Given the description of an element on the screen output the (x, y) to click on. 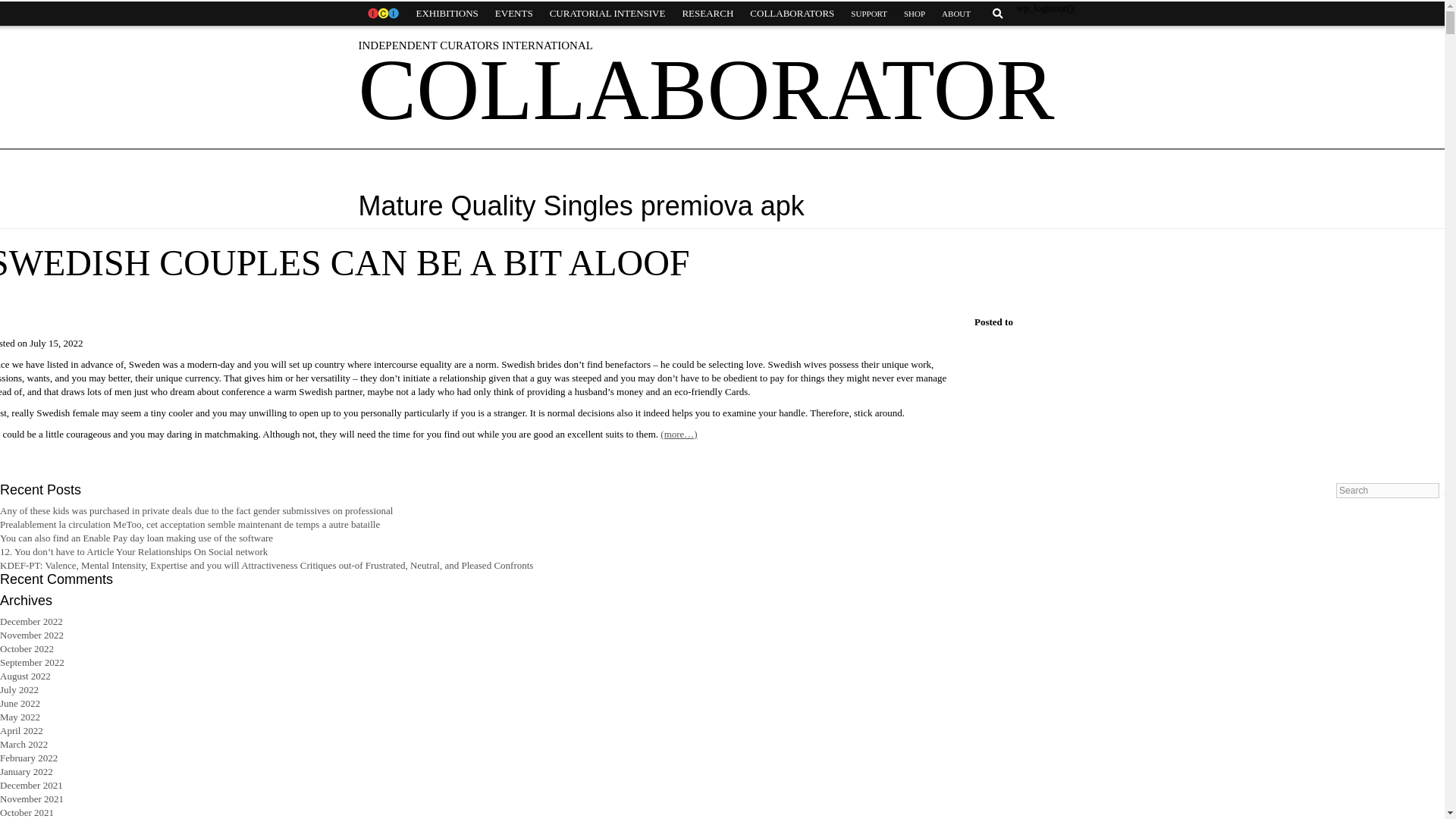
HOME (382, 13)
COLLABORATORS (792, 13)
EXHIBITIONS (446, 13)
RESEARCH (706, 13)
CURATORIAL INTENSIVE (607, 13)
EVENTS (513, 13)
